Given the description of an element on the screen output the (x, y) to click on. 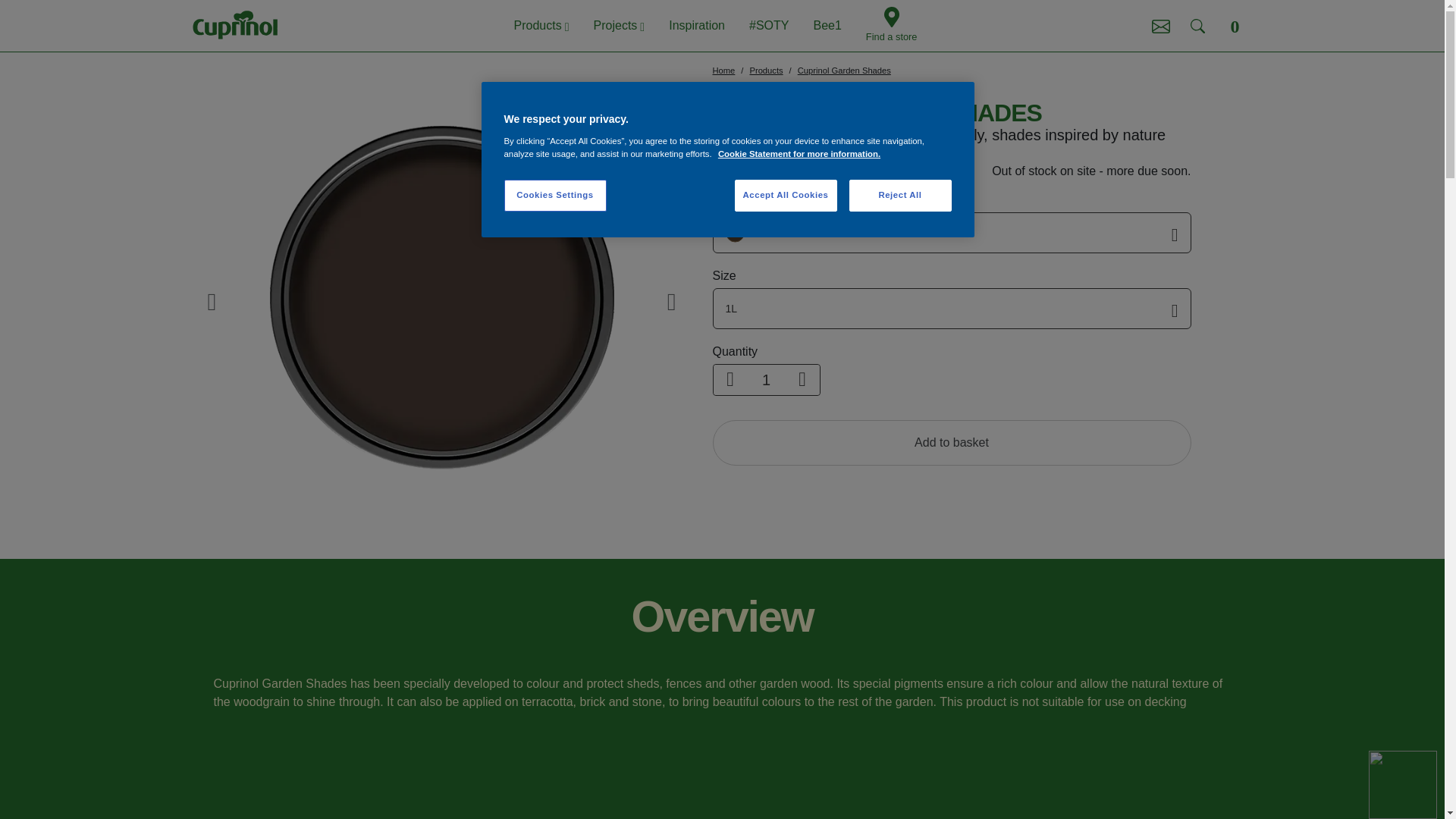
Products (541, 25)
Projects (619, 25)
Seasoned Oak (952, 232)
Find a store (891, 25)
Home (724, 70)
Products (766, 70)
0 (1234, 25)
Cuprinol Garden Shades (844, 70)
Bee1 (826, 25)
Inspiration (696, 25)
